Given the description of an element on the screen output the (x, y) to click on. 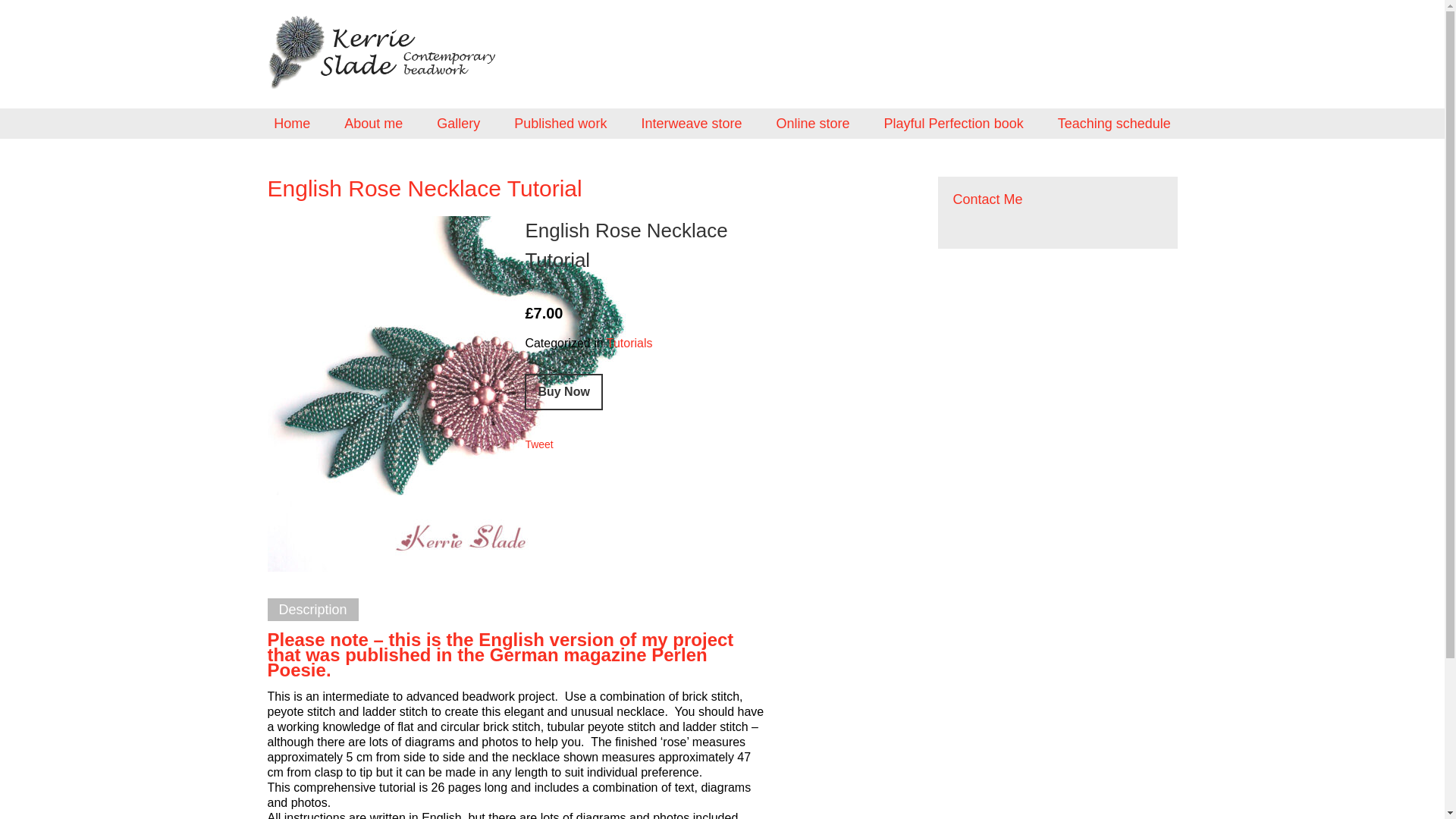
Description (312, 609)
Online store (812, 123)
Tweet (538, 444)
Teaching schedule (1114, 123)
Home (291, 123)
Tutorials (629, 342)
English Rose Necklace Tutorial (625, 245)
Playful Perfection book (953, 123)
About me (373, 123)
Buy Now (563, 391)
